Given the description of an element on the screen output the (x, y) to click on. 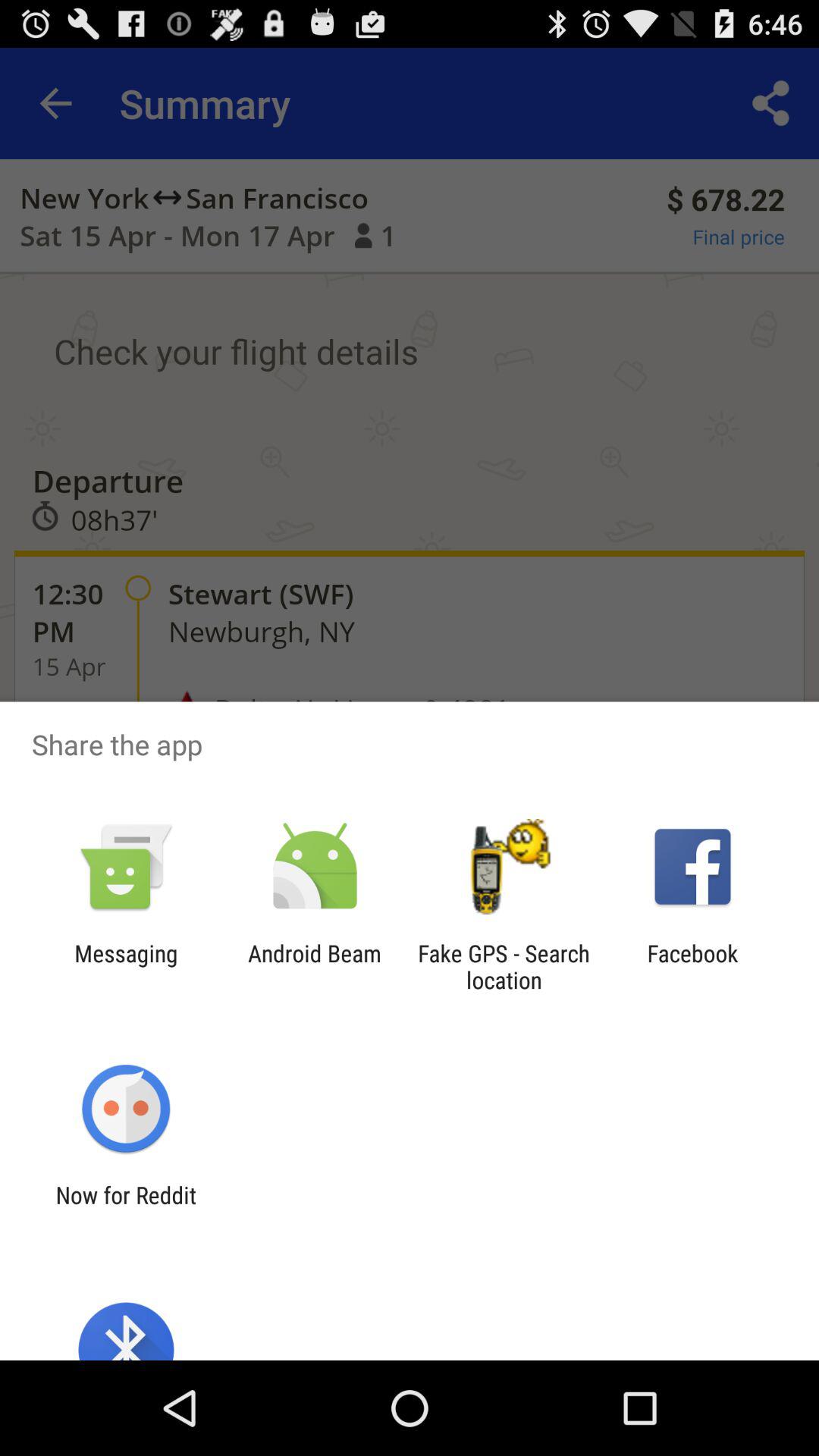
tap the facebook icon (692, 966)
